Given the description of an element on the screen output the (x, y) to click on. 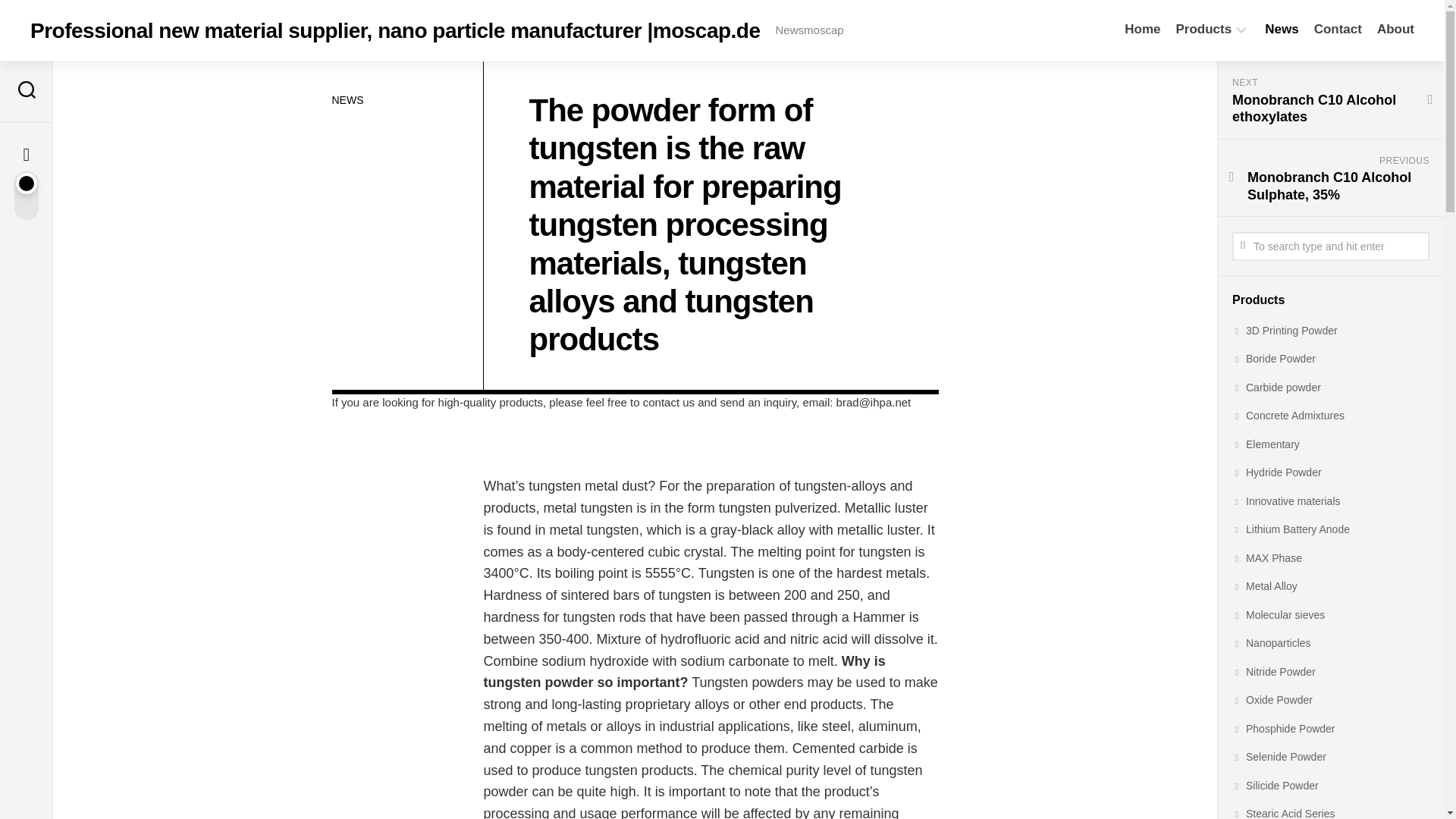
About (1395, 29)
Products (1203, 29)
Contact (1337, 29)
Home (1142, 29)
To search type and hit enter (1330, 246)
News (1281, 29)
To search type and hit enter (1330, 246)
